Given the description of an element on the screen output the (x, y) to click on. 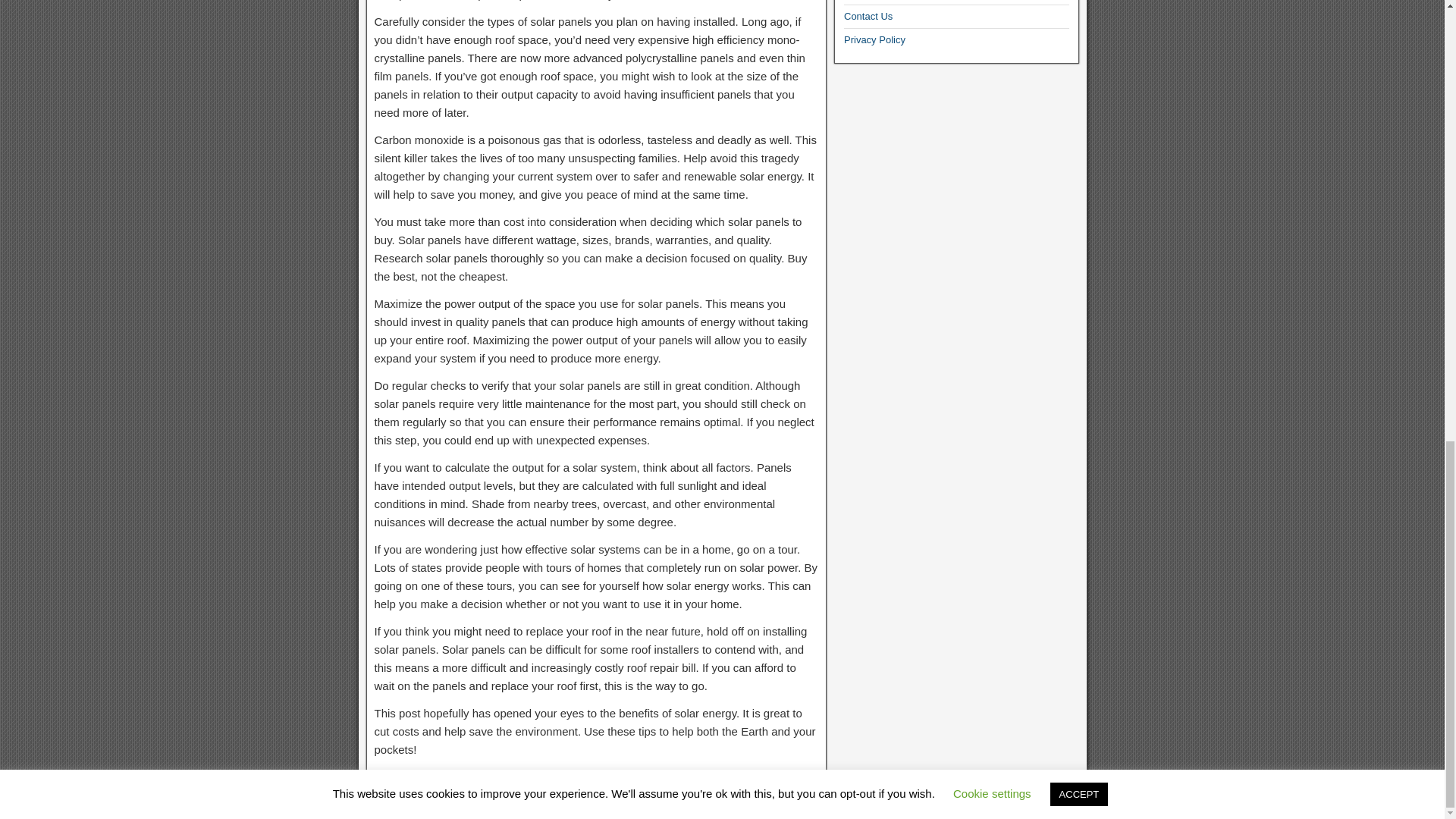
Contact Us (868, 16)
Privacy Policy (874, 39)
Frontier Theme (1039, 804)
